Given the description of an element on the screen output the (x, y) to click on. 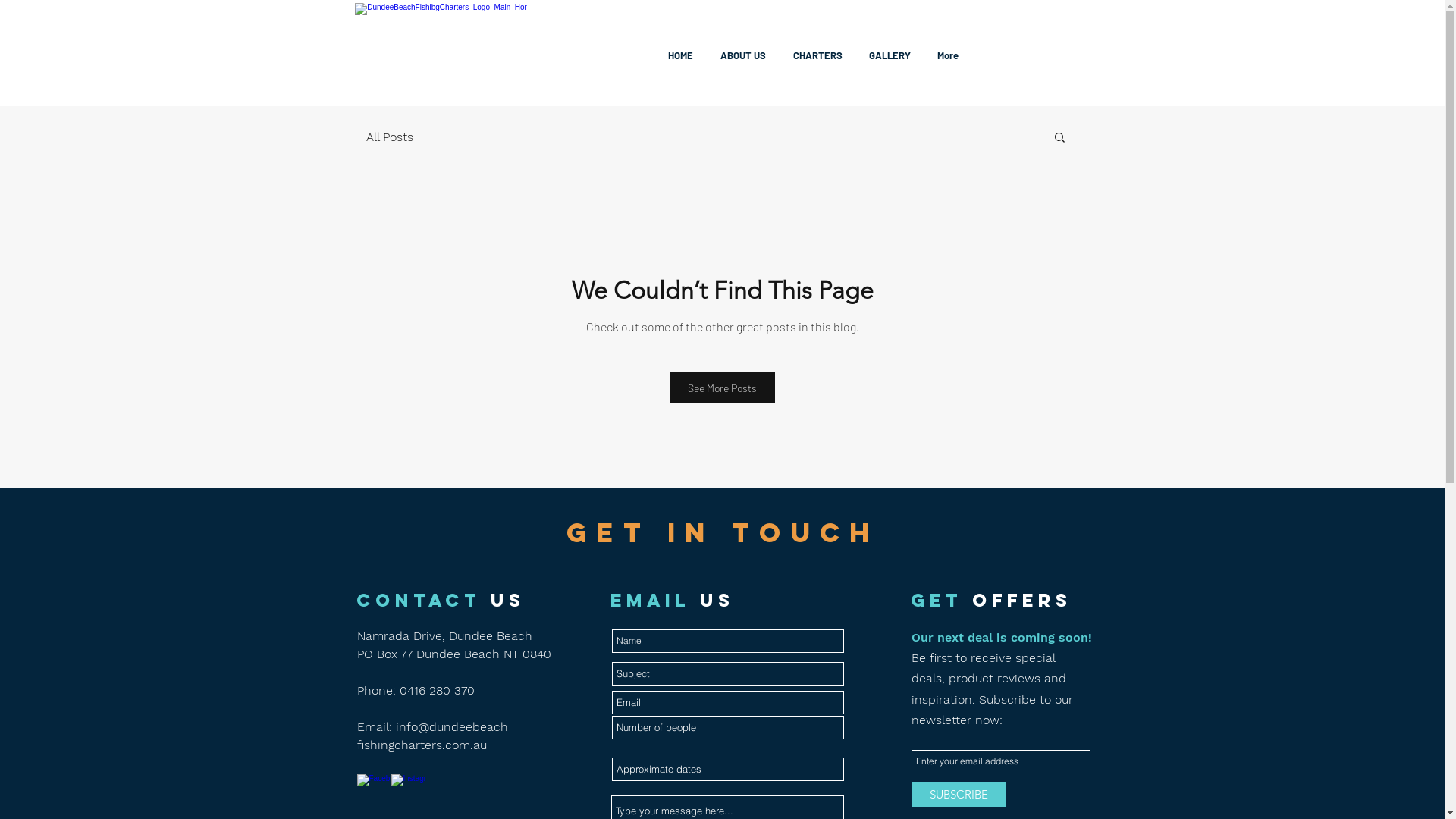
HOME Element type: text (680, 55)
CHARTERS Element type: text (817, 55)
All Posts Element type: text (388, 135)
See More Posts Element type: text (722, 387)
ABOUT US Element type: text (742, 55)
GALLERY Element type: text (889, 55)
SUBSCRIBE Element type: text (958, 793)
